Given the description of an element on the screen output the (x, y) to click on. 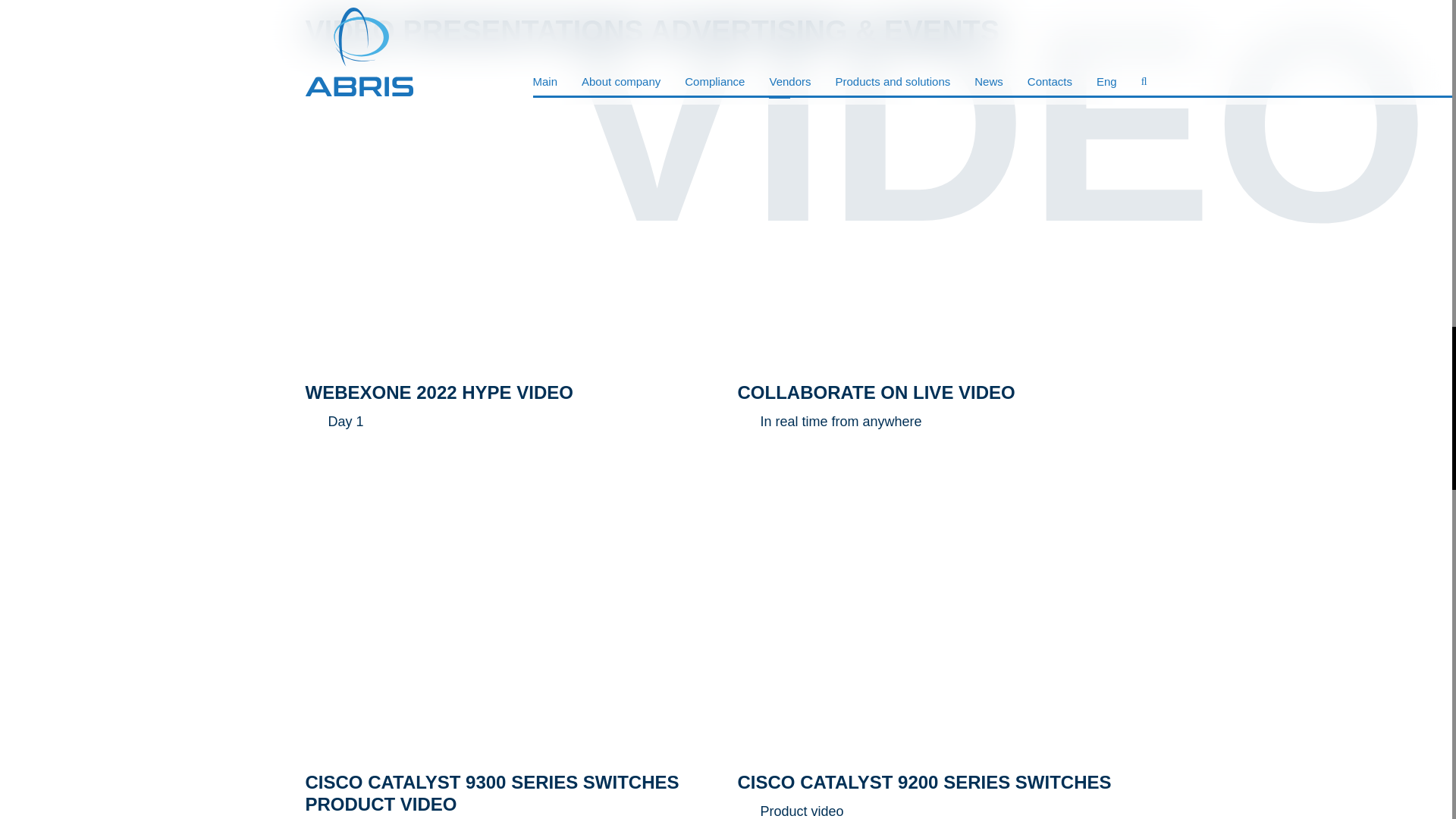
YouTube video player (509, 223)
YouTube video player (941, 613)
YouTube video player (941, 223)
YouTube video player (509, 613)
